Given the description of an element on the screen output the (x, y) to click on. 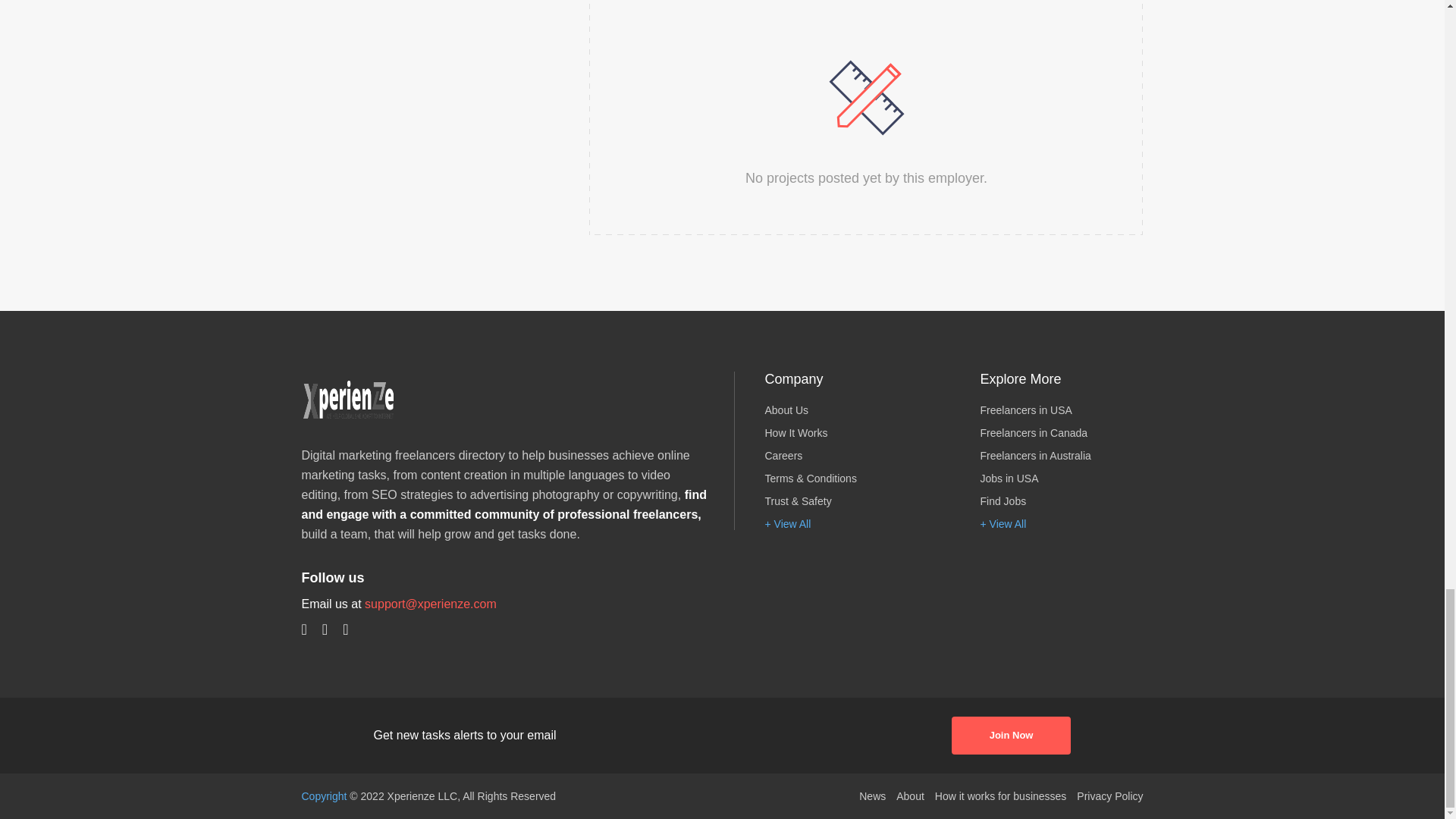
Careers (845, 455)
Jobs in USA (1060, 478)
Join Now (1011, 735)
Freelancers in USA (1060, 410)
How It Works (845, 432)
About Us (845, 410)
Freelancers in Australia (1060, 455)
Freelancers in Canada (1060, 432)
Find Jobs (1060, 500)
